Given the description of an element on the screen output the (x, y) to click on. 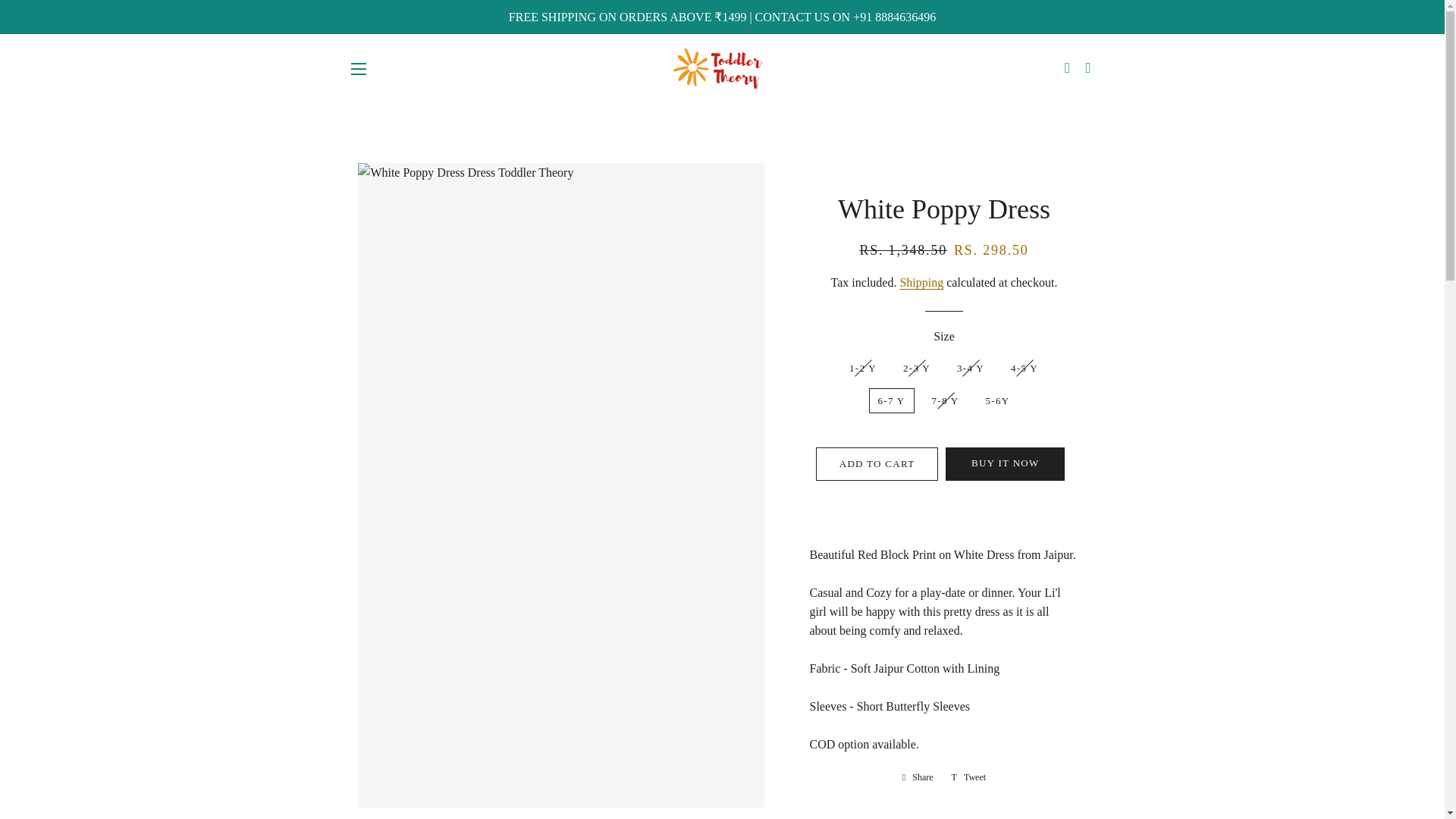
ADD TO CART (877, 463)
Shipping (921, 282)
BUY IT NOW (1004, 463)
Share on Facebook (917, 777)
